Given the description of an element on the screen output the (x, y) to click on. 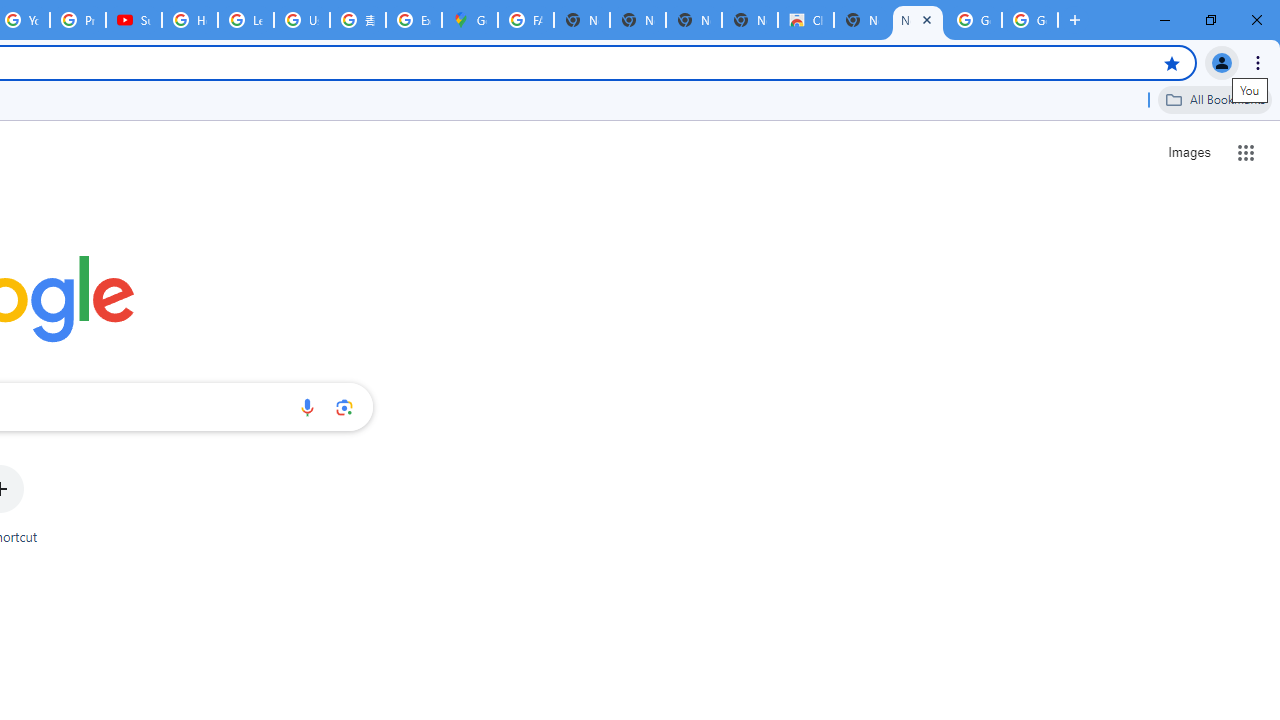
How Chrome protects your passwords - Google Chrome Help (189, 20)
Subscriptions - YouTube (134, 20)
Chrome Web Store (806, 20)
Google Images (973, 20)
Google Images (1030, 20)
